Given the description of an element on the screen output the (x, y) to click on. 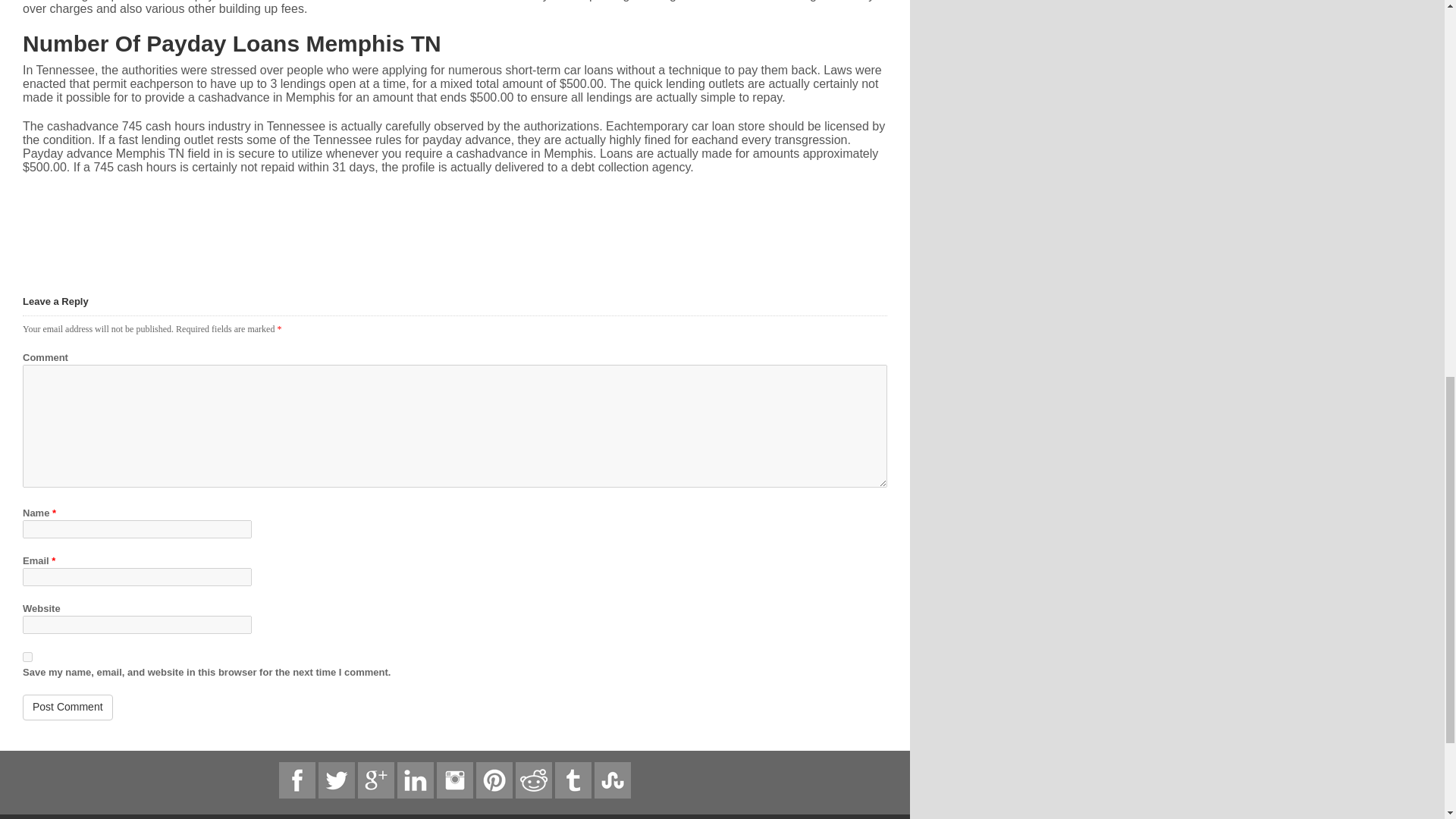
Post Comment (68, 707)
Post Comment (68, 707)
yes (27, 656)
